Given the description of an element on the screen output the (x, y) to click on. 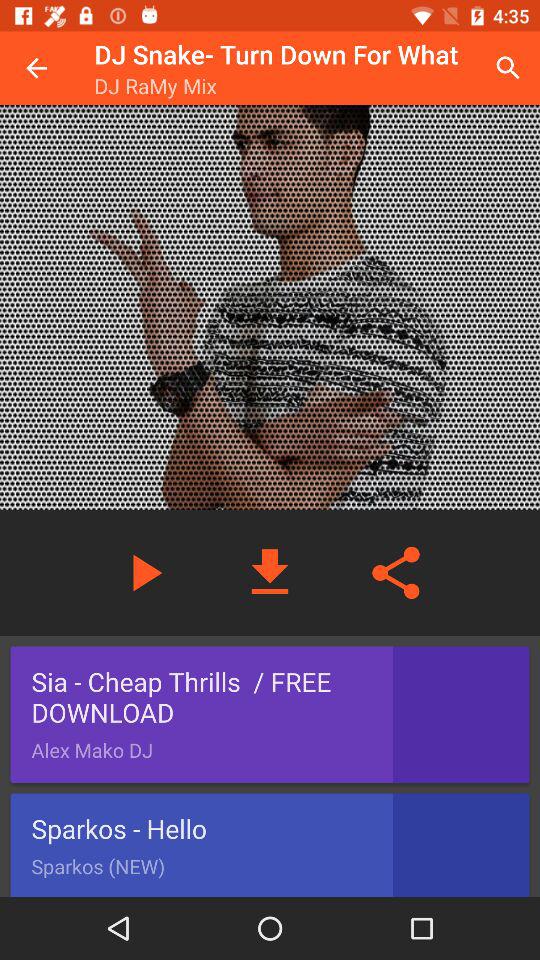
click on sia cheap thrills (269, 715)
click the blue color button at bottom of the page (269, 844)
